Given the description of an element on the screen output the (x, y) to click on. 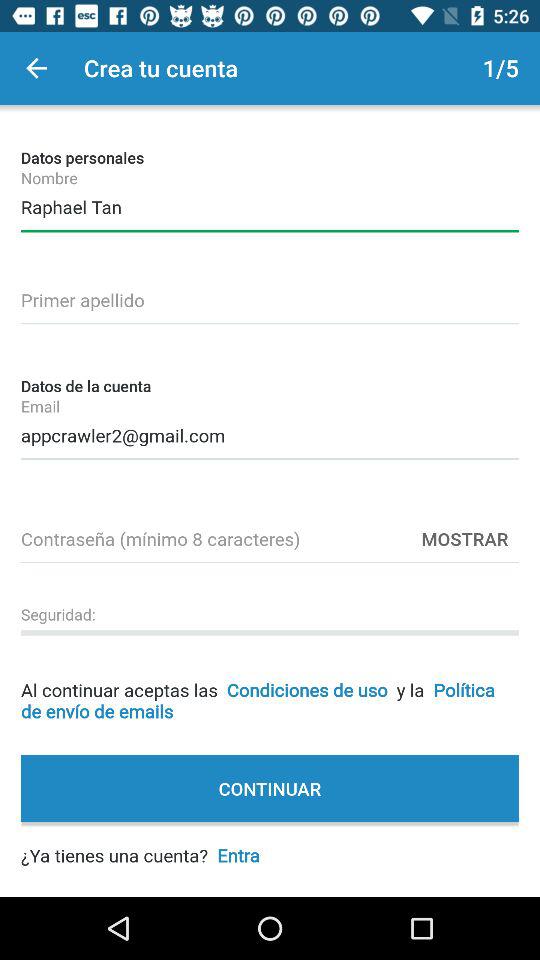
scroll until the raphael tan item (270, 204)
